Given the description of an element on the screen output the (x, y) to click on. 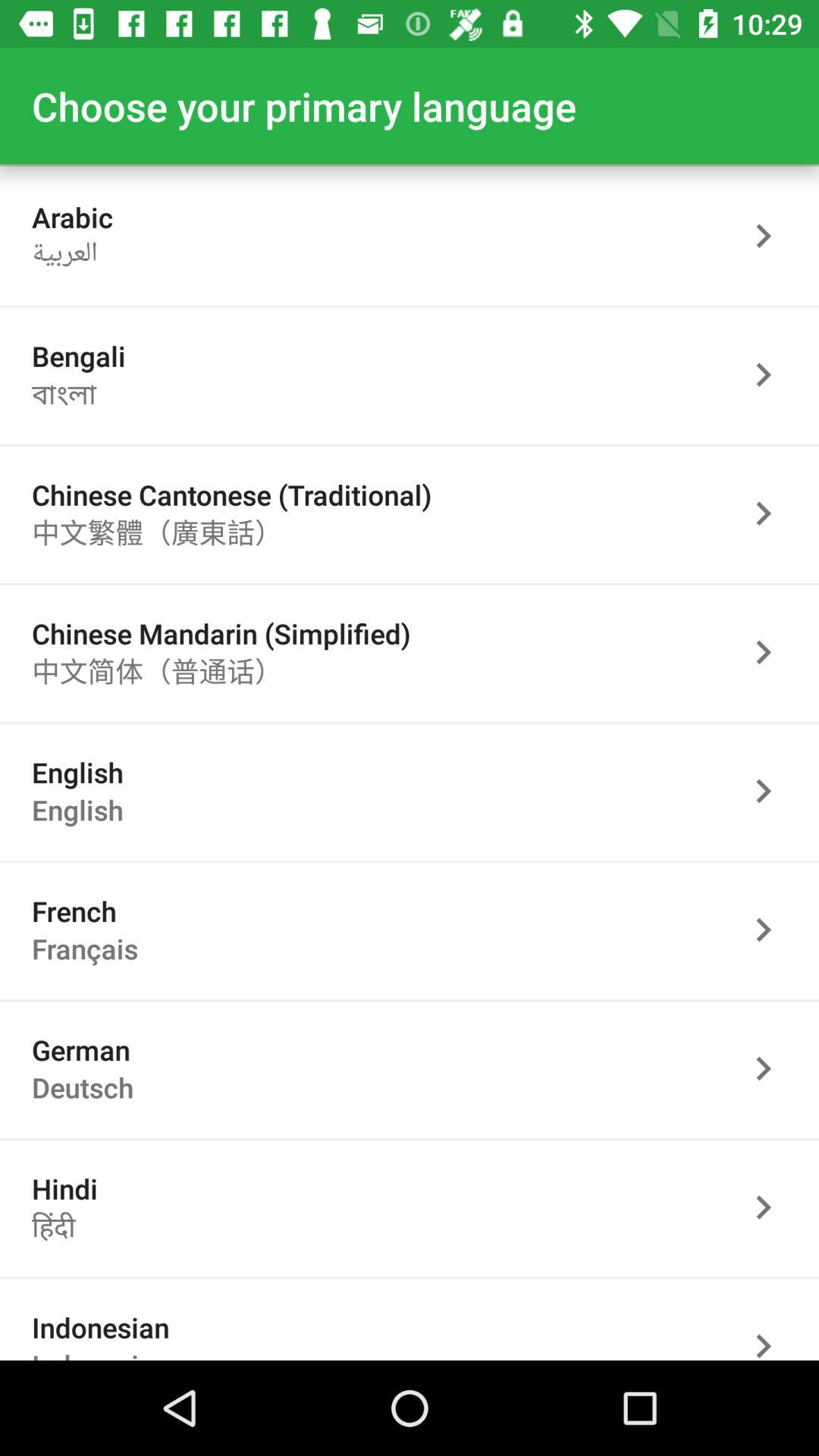
go next (771, 374)
